Given the description of an element on the screen output the (x, y) to click on. 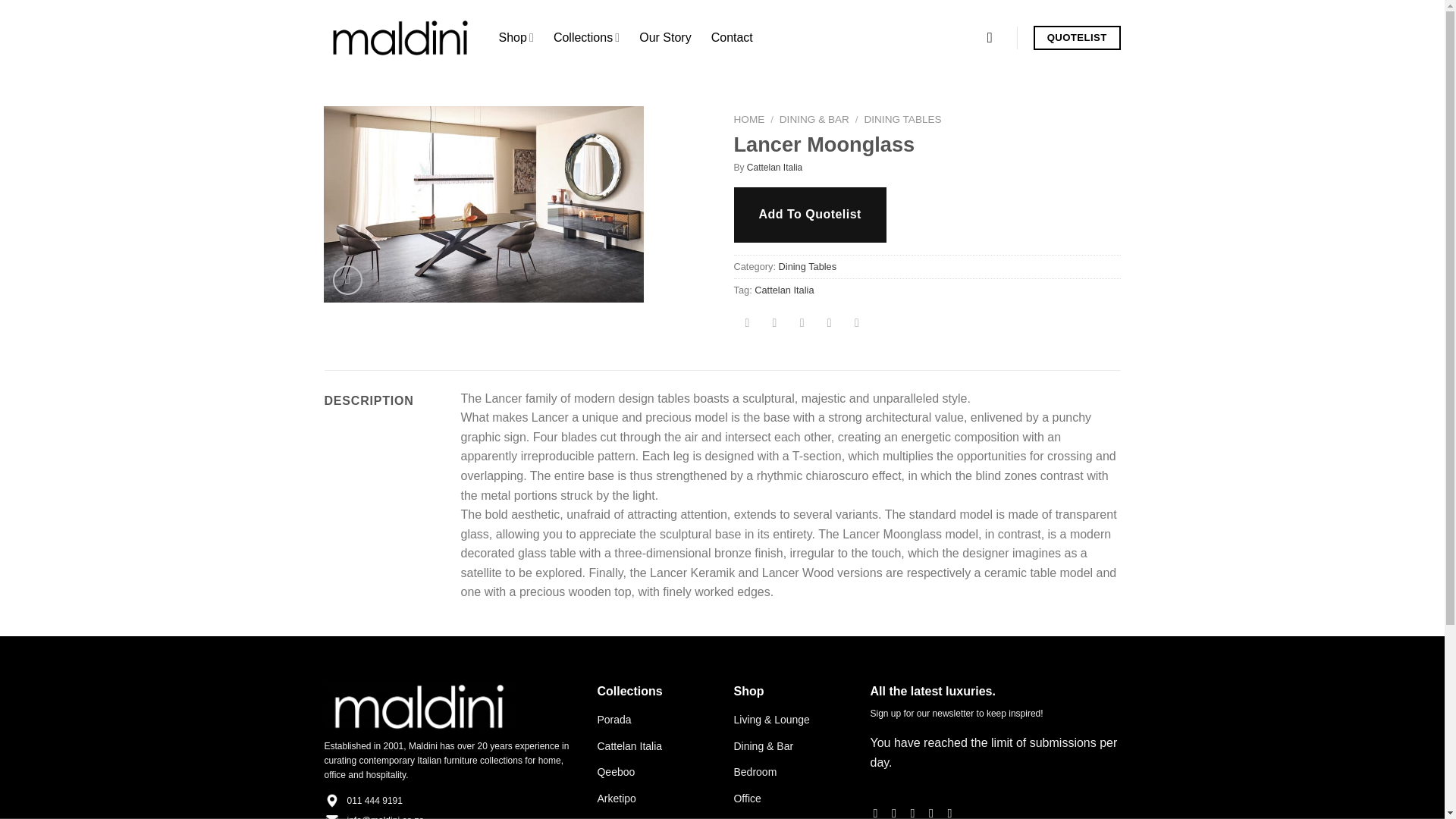
Contact (731, 37)
Shop (516, 37)
Email to a Friend (801, 324)
Follow on Pinterest (934, 812)
Follow on LinkedIn (953, 812)
Zoom (347, 279)
Share on LinkedIn (856, 324)
Pin on Pinterest (828, 324)
Share on Twitter (774, 324)
Follow on TikTok (915, 812)
